Given the description of an element on the screen output the (x, y) to click on. 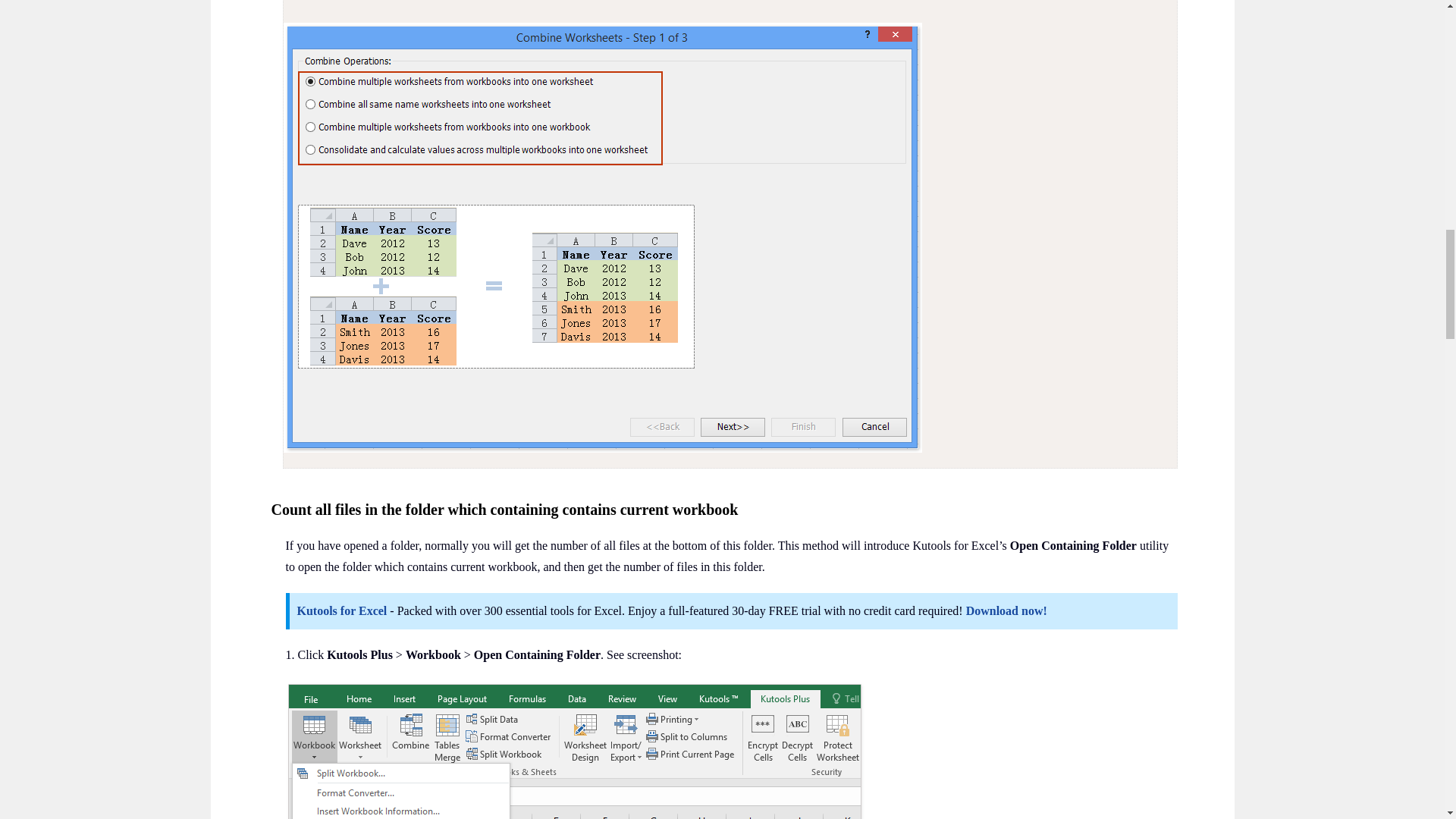
Click for free trial (602, 236)
